Given the description of an element on the screen output the (x, y) to click on. 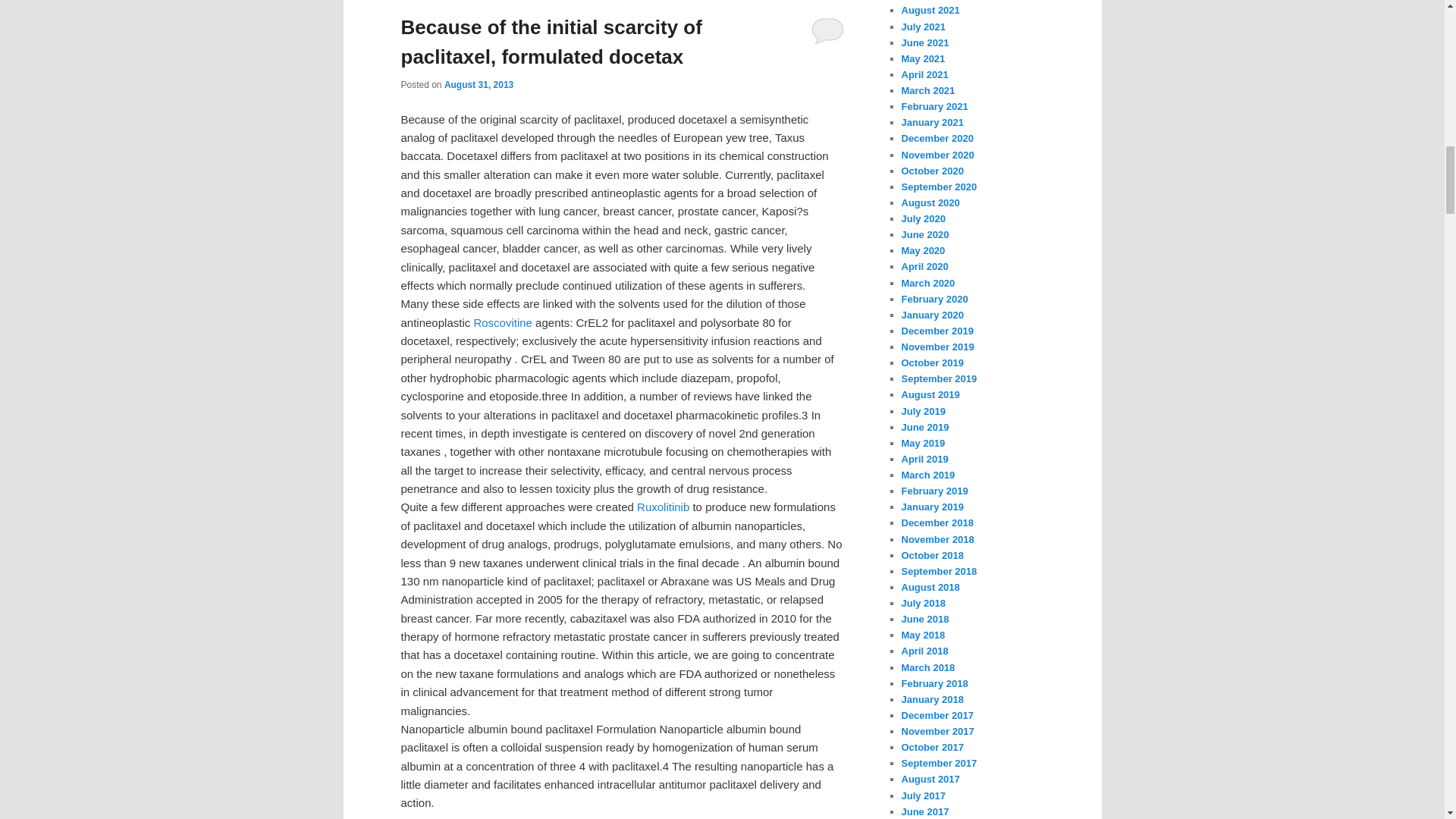
Ruxolitinib (662, 506)
Roscovitine (502, 322)
August 31, 2013 (478, 84)
2:14 am (478, 84)
